Given the description of an element on the screen output the (x, y) to click on. 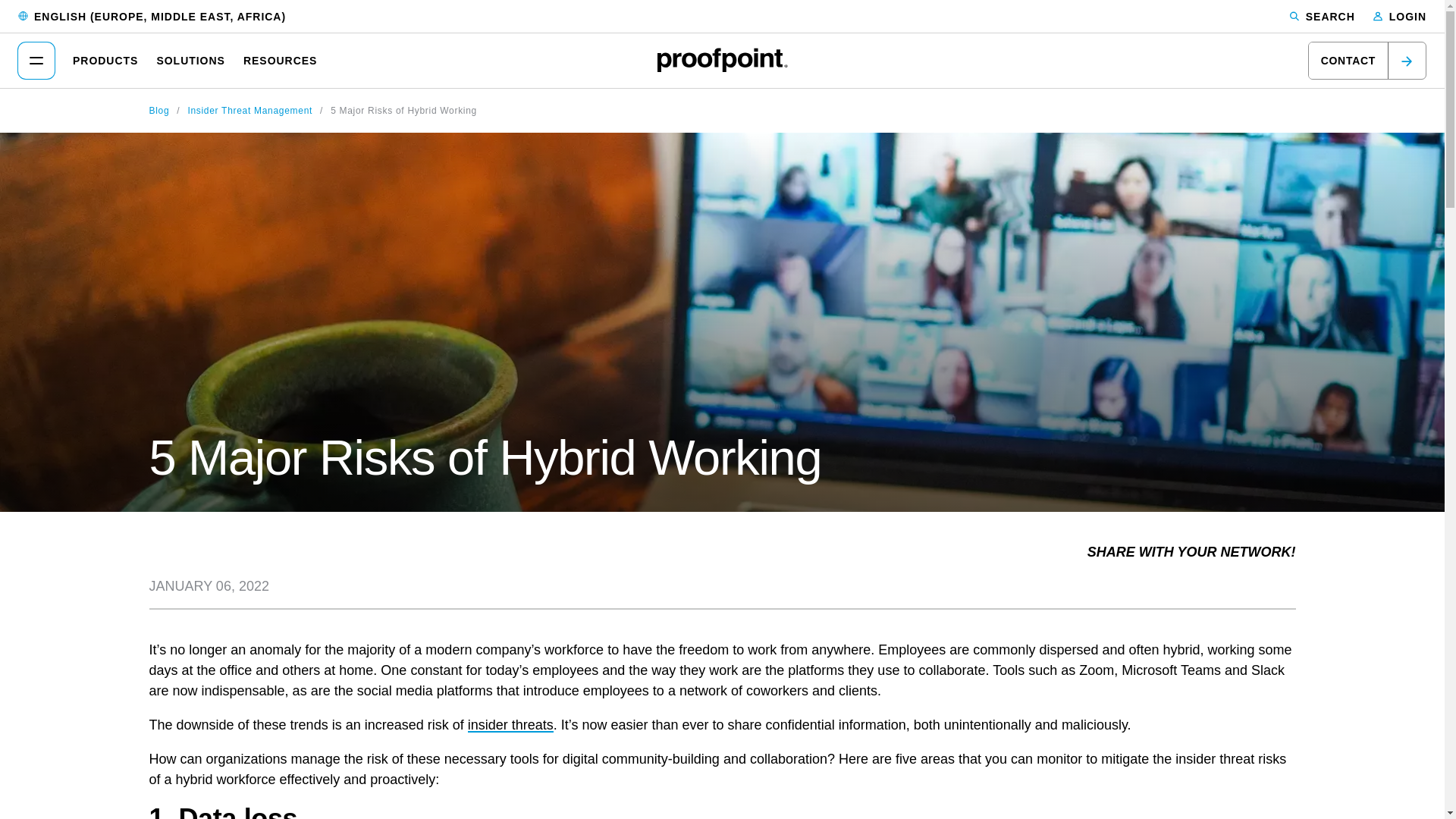
CONTACT (1366, 60)
Proofpoint (721, 59)
Insider Threat (510, 724)
